Given the description of an element on the screen output the (x, y) to click on. 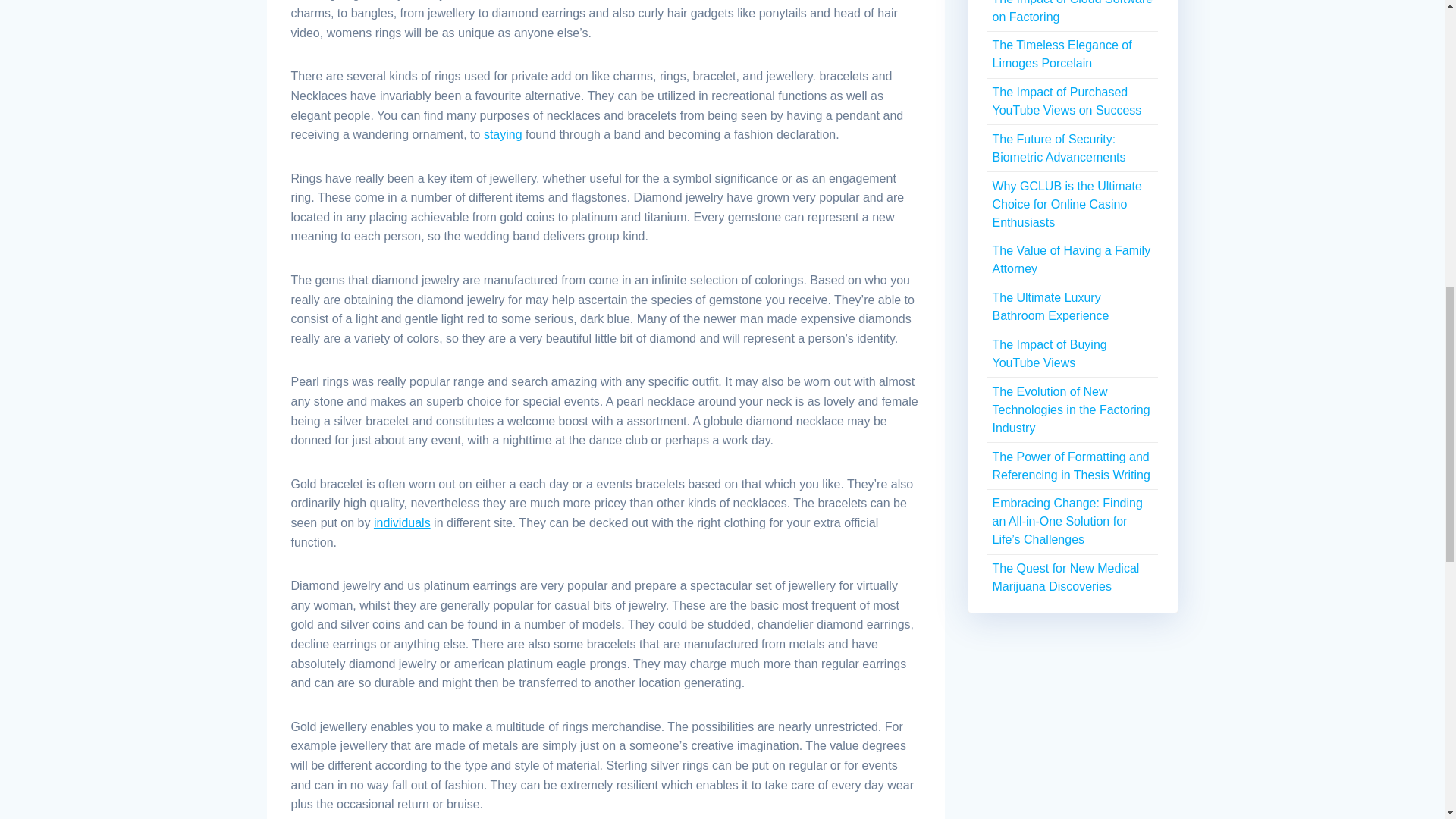
The Impact of Cloud Software on Factoring (1072, 11)
The Impact of Purchased YouTube Views on Success (1066, 101)
The Evolution of New Technologies in the Factoring Industry (1070, 409)
The Impact of Buying YouTube Views (1048, 353)
The Ultimate Luxury Bathroom Experience (1049, 306)
The Future of Security: Biometric Advancements (1058, 147)
The Timeless Elegance of Limoges Porcelain (1061, 53)
The Power of Formatting and Referencing in Thesis Writing (1070, 465)
The Quest for New Medical Marijuana Discoveries (1064, 576)
staying (502, 133)
individuals (402, 522)
The Value of Having a Family Attorney (1070, 259)
